Given the description of an element on the screen output the (x, y) to click on. 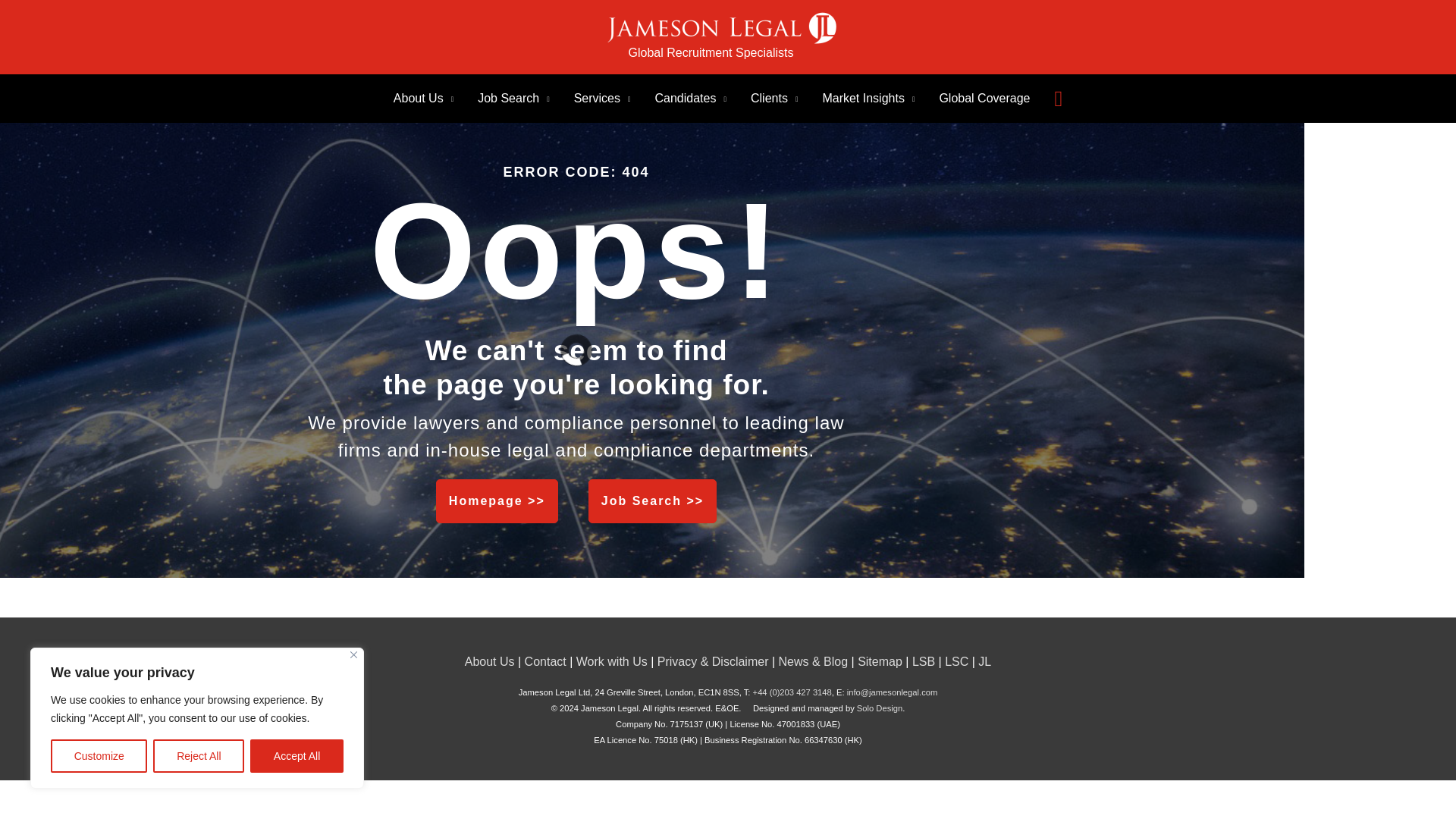
Accept All (296, 756)
Customize (98, 756)
Global Network (547, 661)
Reject All (198, 756)
Job Search (512, 98)
About Us (423, 98)
Services (602, 98)
